Given the description of an element on the screen output the (x, y) to click on. 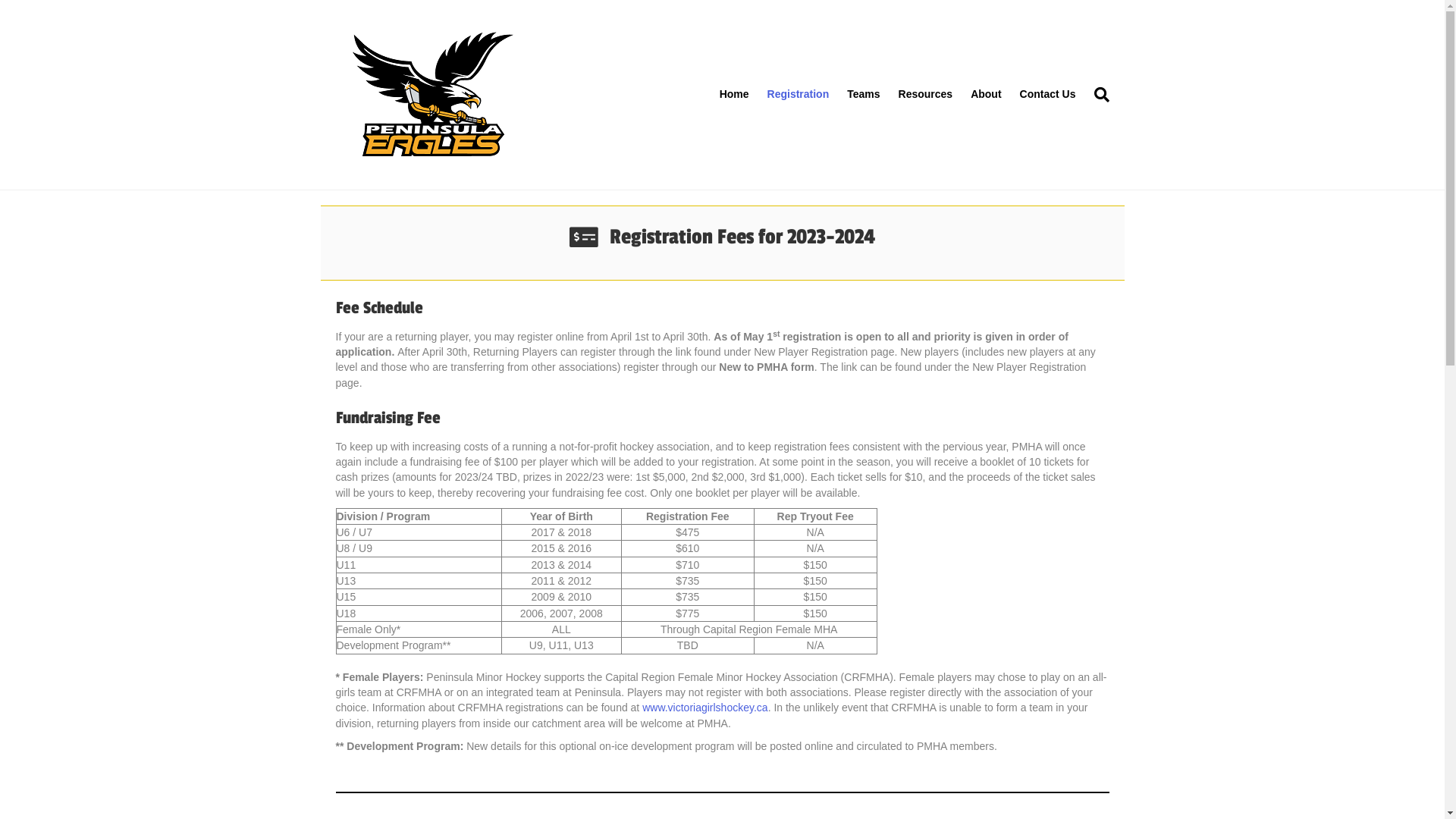
Teams Element type: text (862, 94)
Resources Element type: text (925, 94)
www.victoriagirlshockey.ca Element type: text (704, 707)
Home Element type: text (734, 94)
Contact Us Element type: text (1047, 94)
About Element type: text (985, 94)
Registration Element type: text (798, 94)
